Given the description of an element on the screen output the (x, y) to click on. 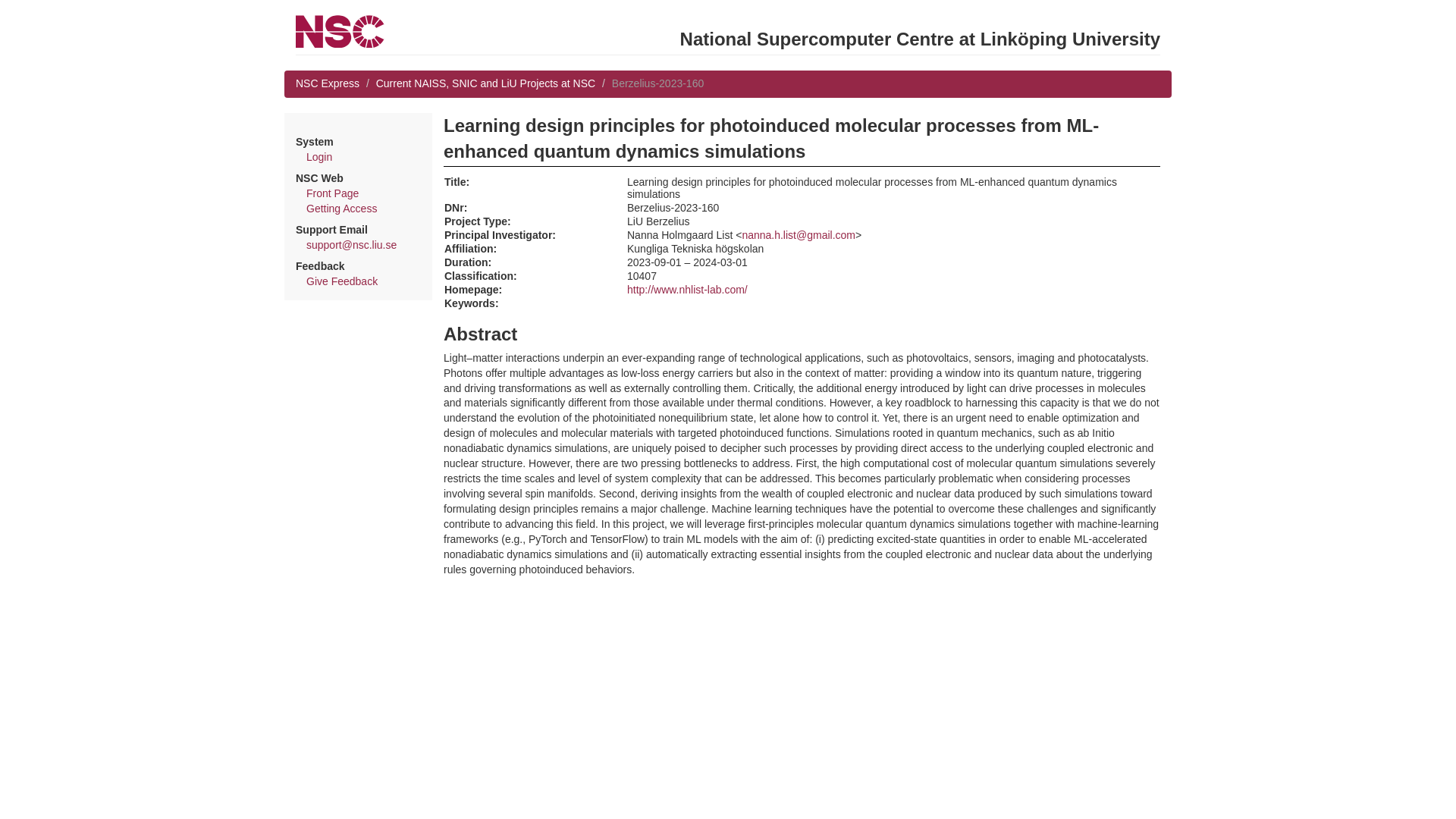
Give Feedback (341, 281)
NSC Express (327, 82)
Getting Access (341, 208)
Login (318, 156)
Current NAISS, SNIC and LiU Projects at NSC (485, 82)
Front Page (331, 193)
